Given the description of an element on the screen output the (x, y) to click on. 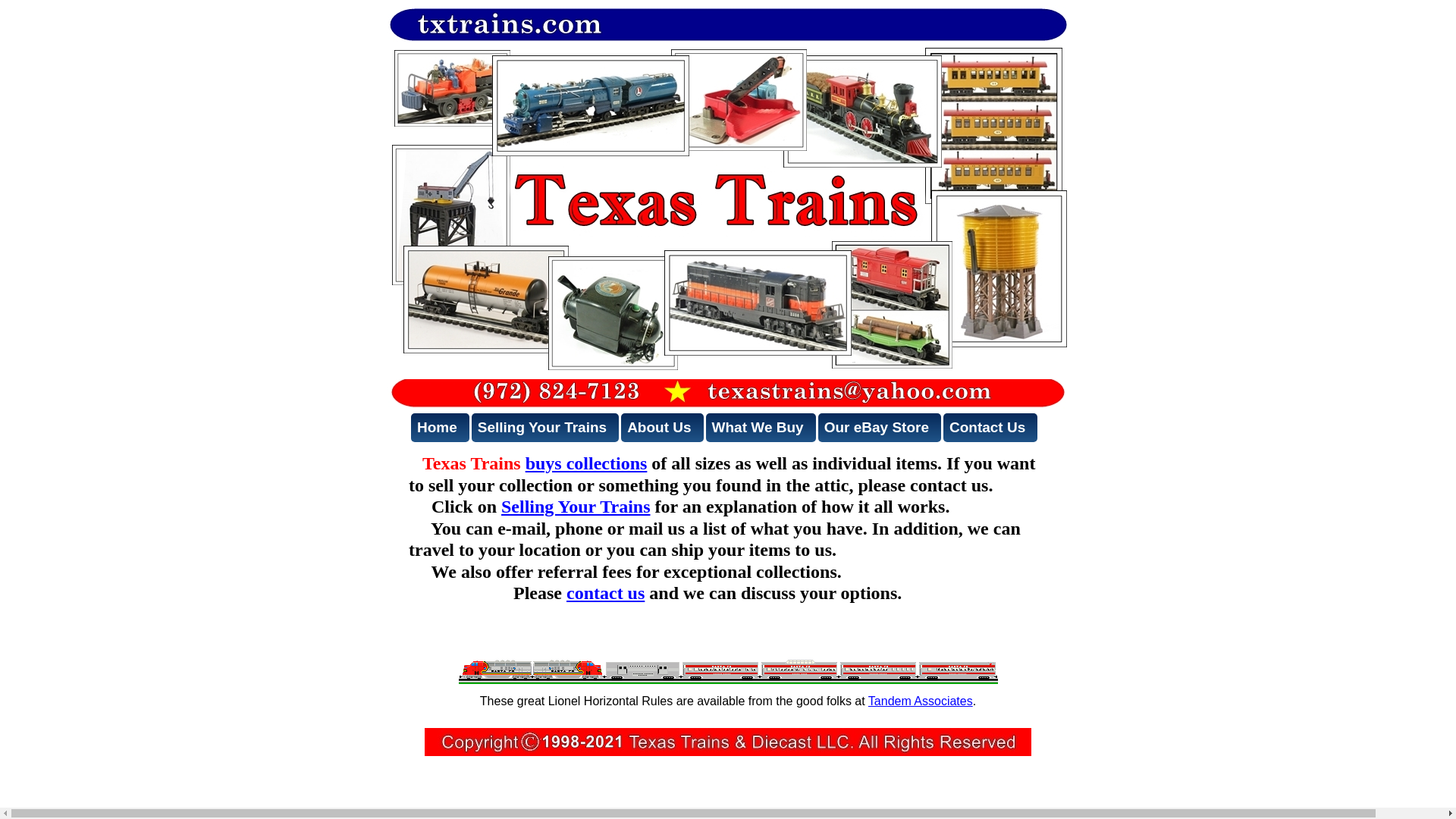
Tandem Associates (919, 700)
buys collections (586, 463)
Just Some Of What We Buy (586, 463)
Selling Your Trains (575, 506)
Lionel Horizontal Rules (919, 700)
contact us (605, 592)
How To Sell Your Collection (575, 506)
How To Contact Us (605, 592)
